Given the description of an element on the screen output the (x, y) to click on. 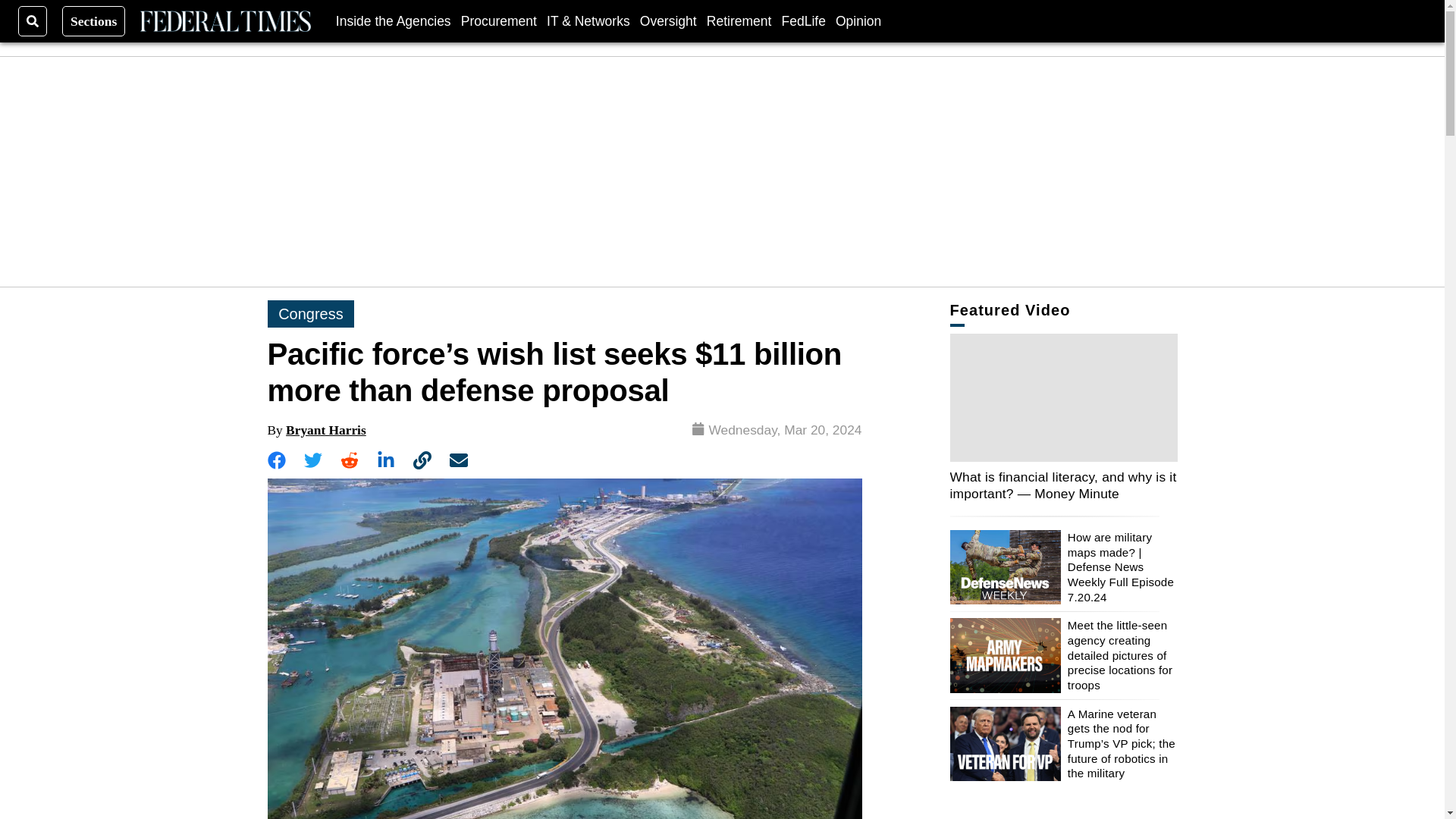
Federal Times Logo (224, 20)
Opinion (857, 20)
Procurement (499, 20)
Oversight (668, 20)
Inside the Agencies (393, 20)
FedLife (802, 20)
Retirement (738, 20)
Sections (93, 20)
